Given the description of an element on the screen output the (x, y) to click on. 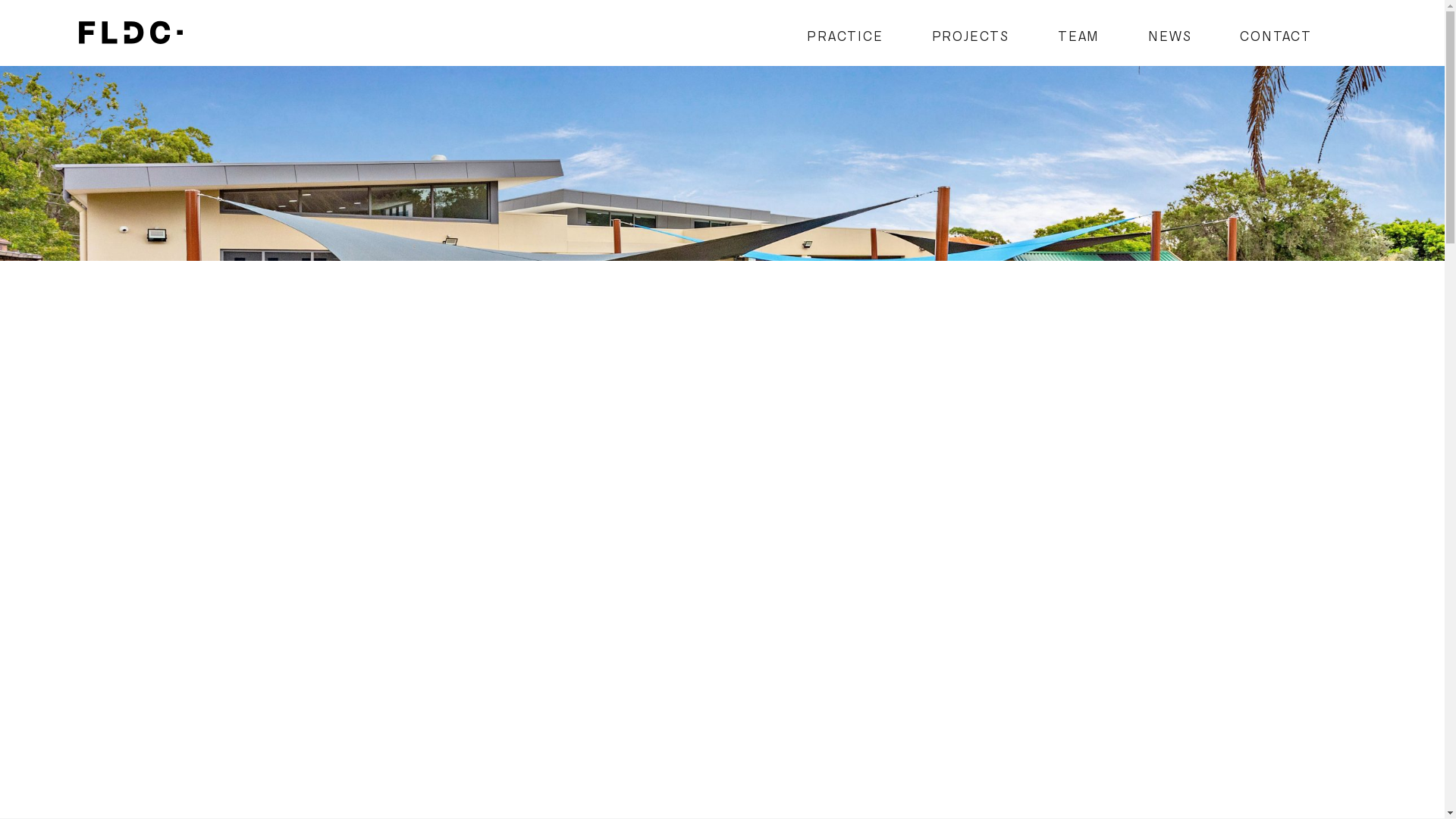
PRACTICE Element type: text (844, 35)
NEWS Element type: text (1169, 35)
TEAM Element type: text (1078, 35)
PROJECTS Element type: text (970, 35)
CONTACT Element type: text (1275, 35)
